Given the description of an element on the screen output the (x, y) to click on. 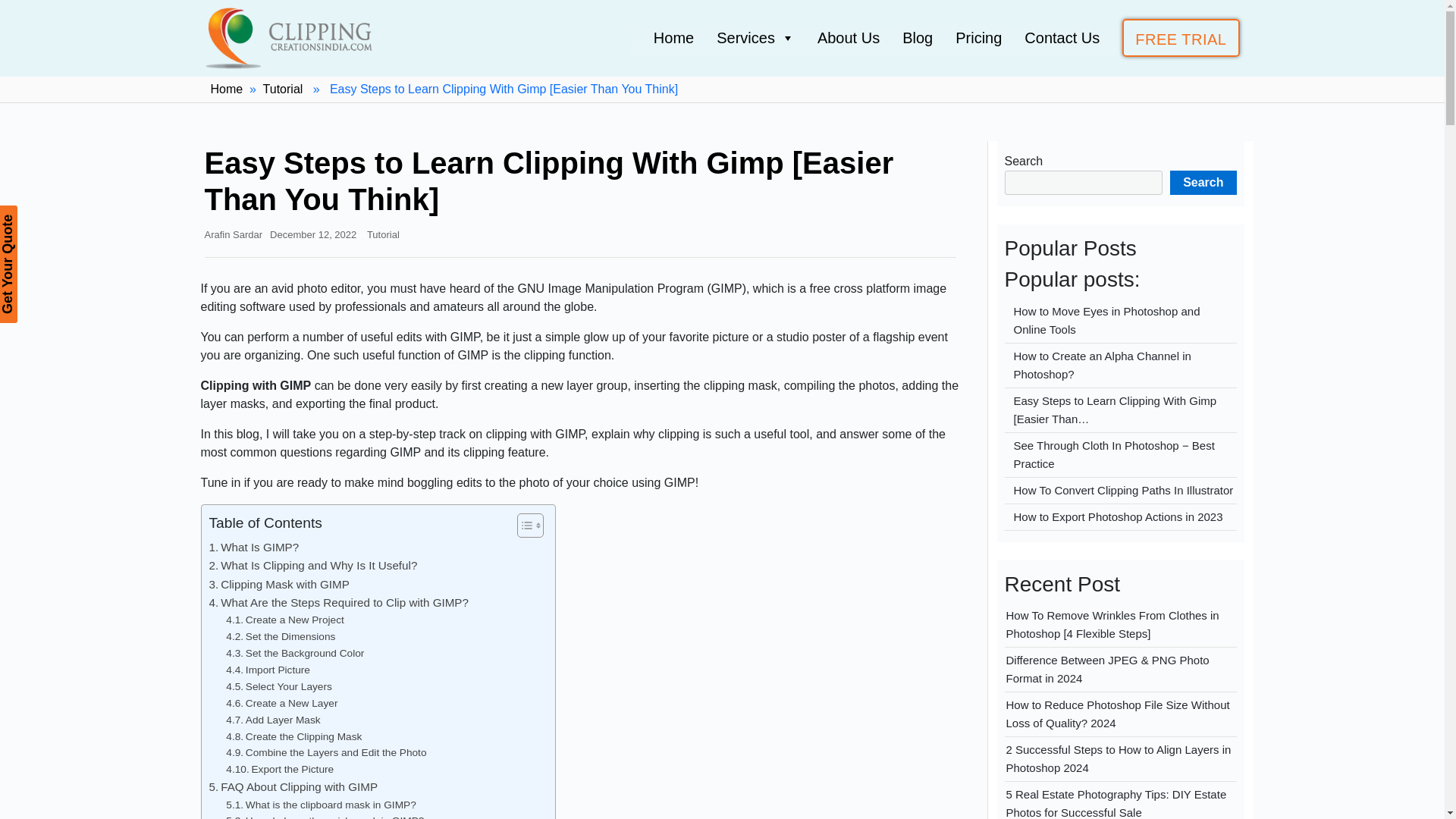
Services (755, 37)
Arafin Sardar (234, 234)
Home (673, 37)
Import Picture (267, 669)
Home (227, 88)
Clipping Mask with GIMP (279, 584)
Contact Us (1062, 37)
What Are the Steps Required to Clip with GIMP? (338, 602)
Pricing (978, 37)
About Us (847, 37)
